Given the description of an element on the screen output the (x, y) to click on. 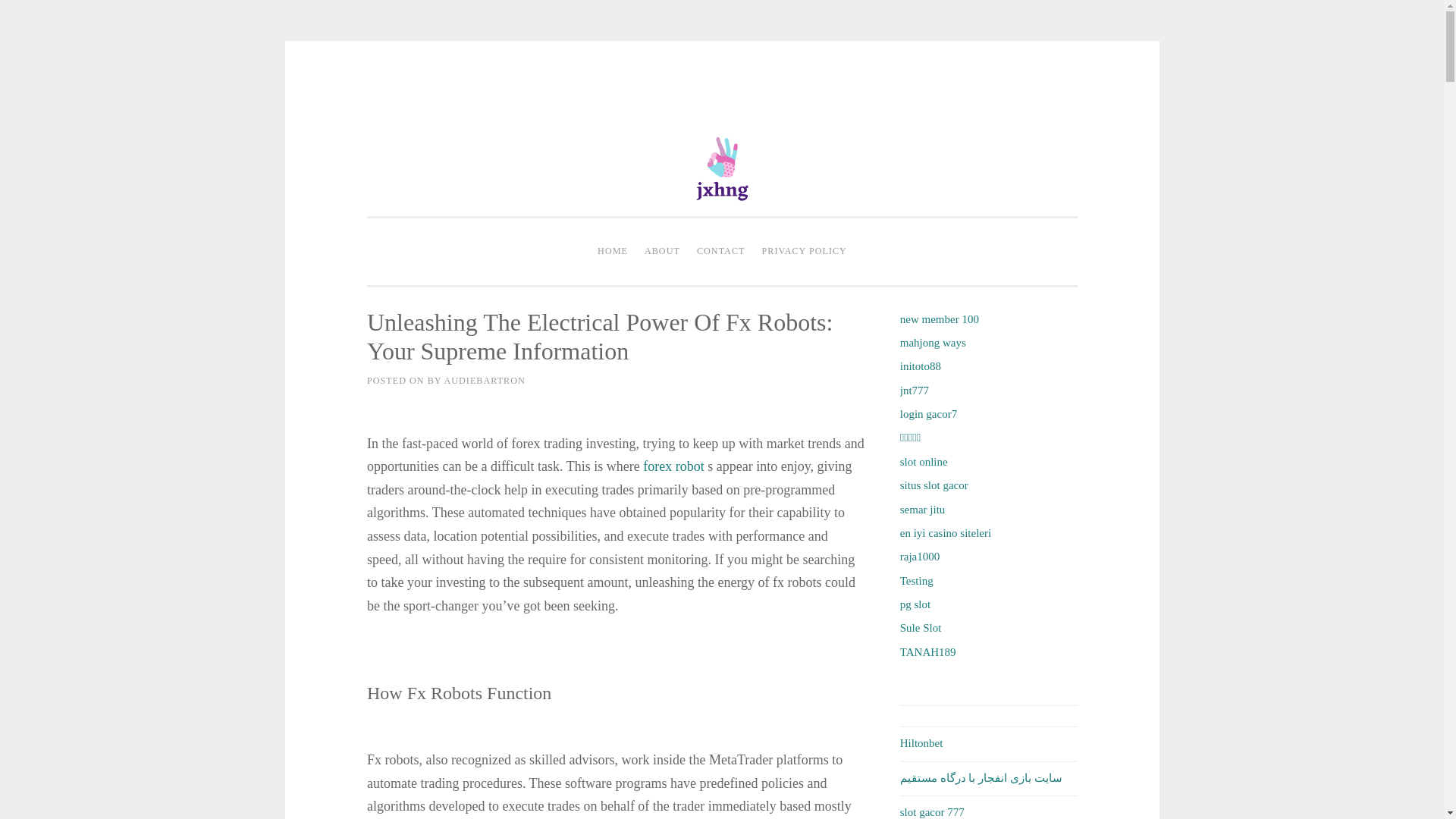
Testing (916, 580)
Sule Slot (920, 627)
new member 100 (938, 318)
situs slot gacor (933, 485)
en iyi casino siteleri (945, 532)
mahjong ways (932, 342)
login gacor7 (927, 413)
PRIVACY POLICY (804, 251)
forex robot (673, 466)
pg slot (914, 604)
slot gacor 777 (931, 811)
ABOUT (662, 251)
initoto88 (919, 366)
Skip to content (400, 91)
AUDIEBARTRON (484, 380)
